Given the description of an element on the screen output the (x, y) to click on. 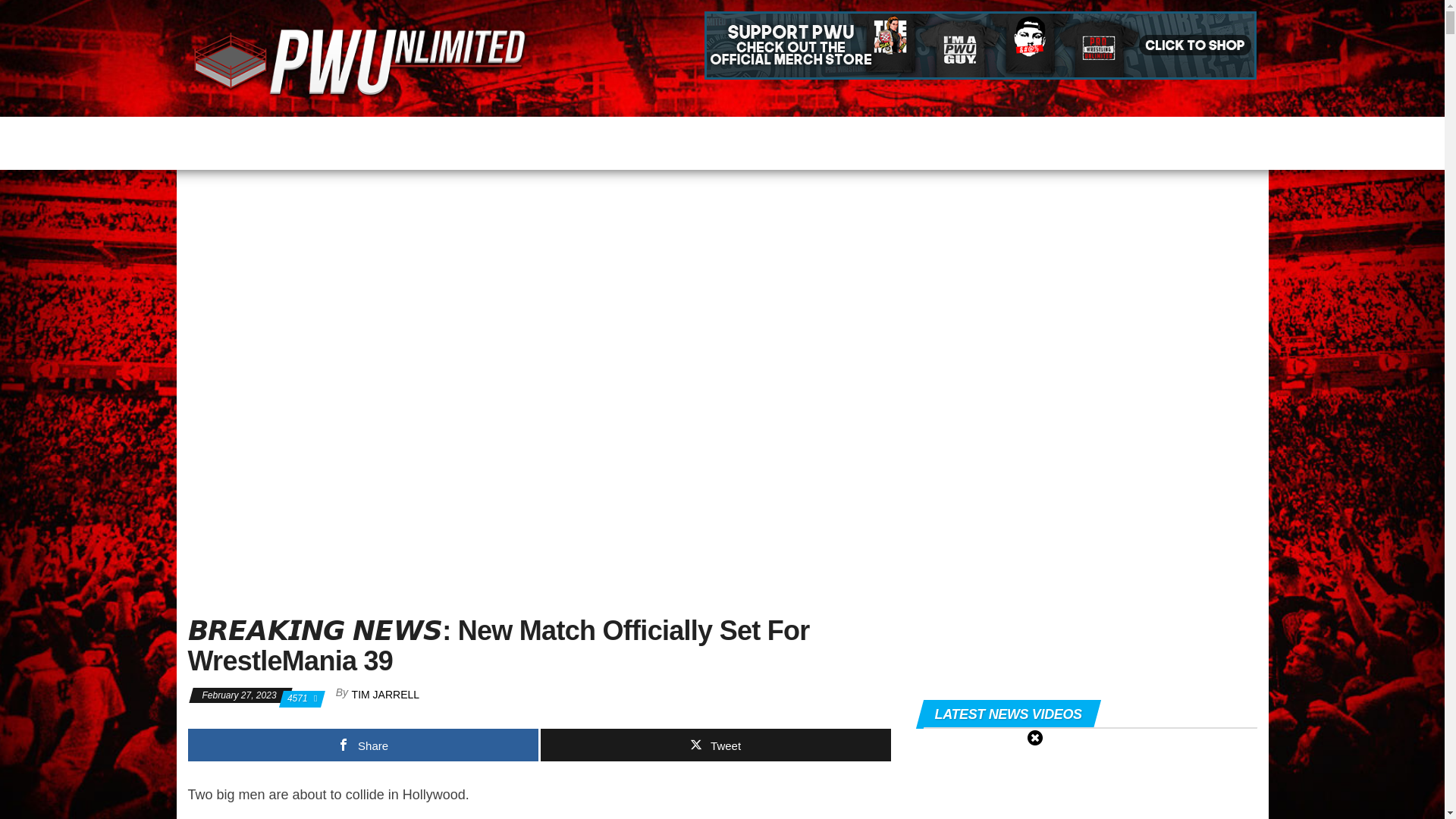
Other News (529, 139)
Resources (783, 139)
Twitch Stream (889, 139)
Other News (529, 139)
AEW News (428, 139)
TIM JARRELL (385, 694)
AEW News (428, 139)
Home (243, 139)
Dailymotion (1097, 139)
Tweet (714, 744)
